Given the description of an element on the screen output the (x, y) to click on. 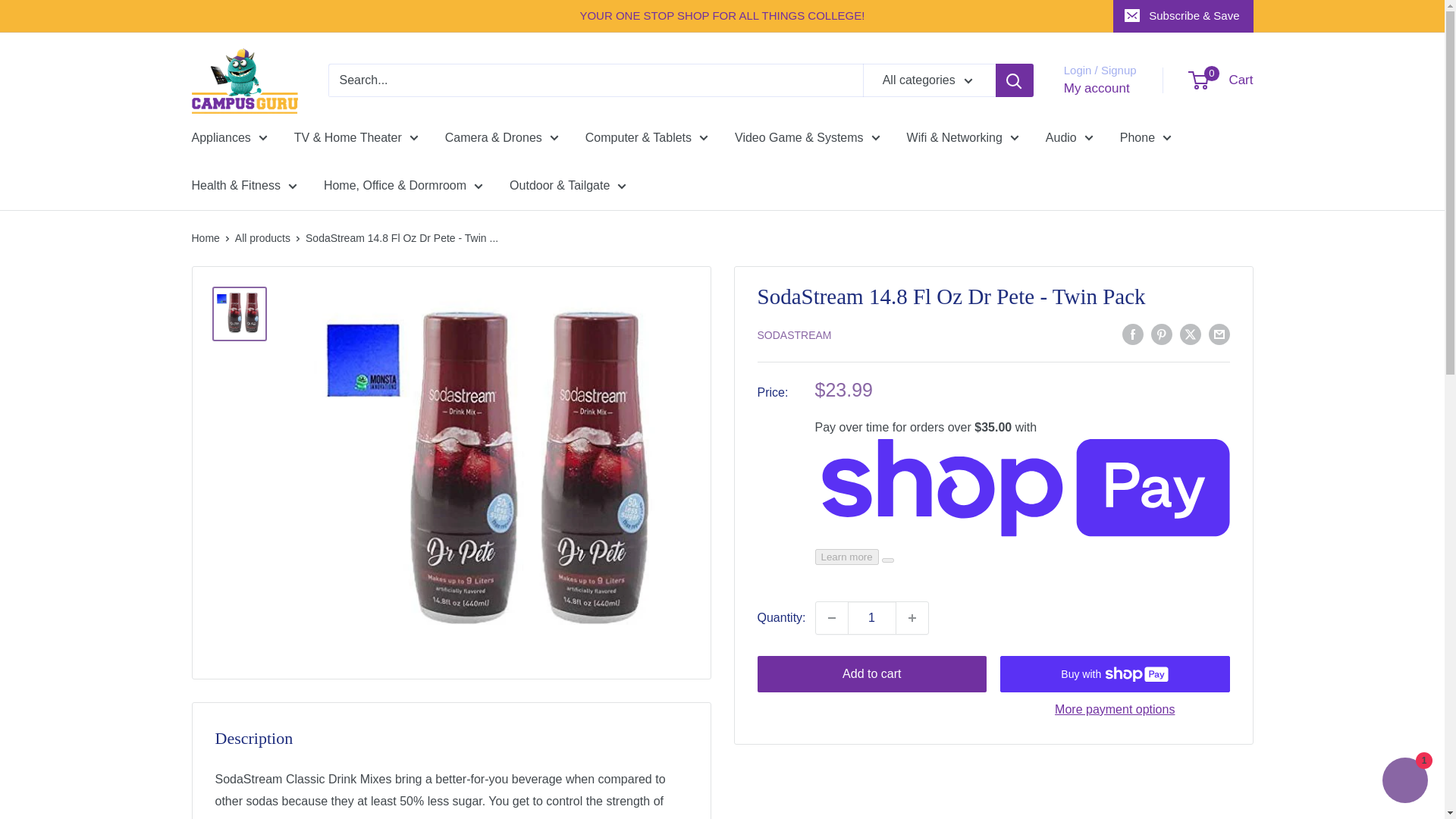
Decrease quantity by 1 (831, 617)
Increase quantity by 1 (912, 617)
Shopify online store chat (1404, 781)
1 (871, 617)
